Given the description of an element on the screen output the (x, y) to click on. 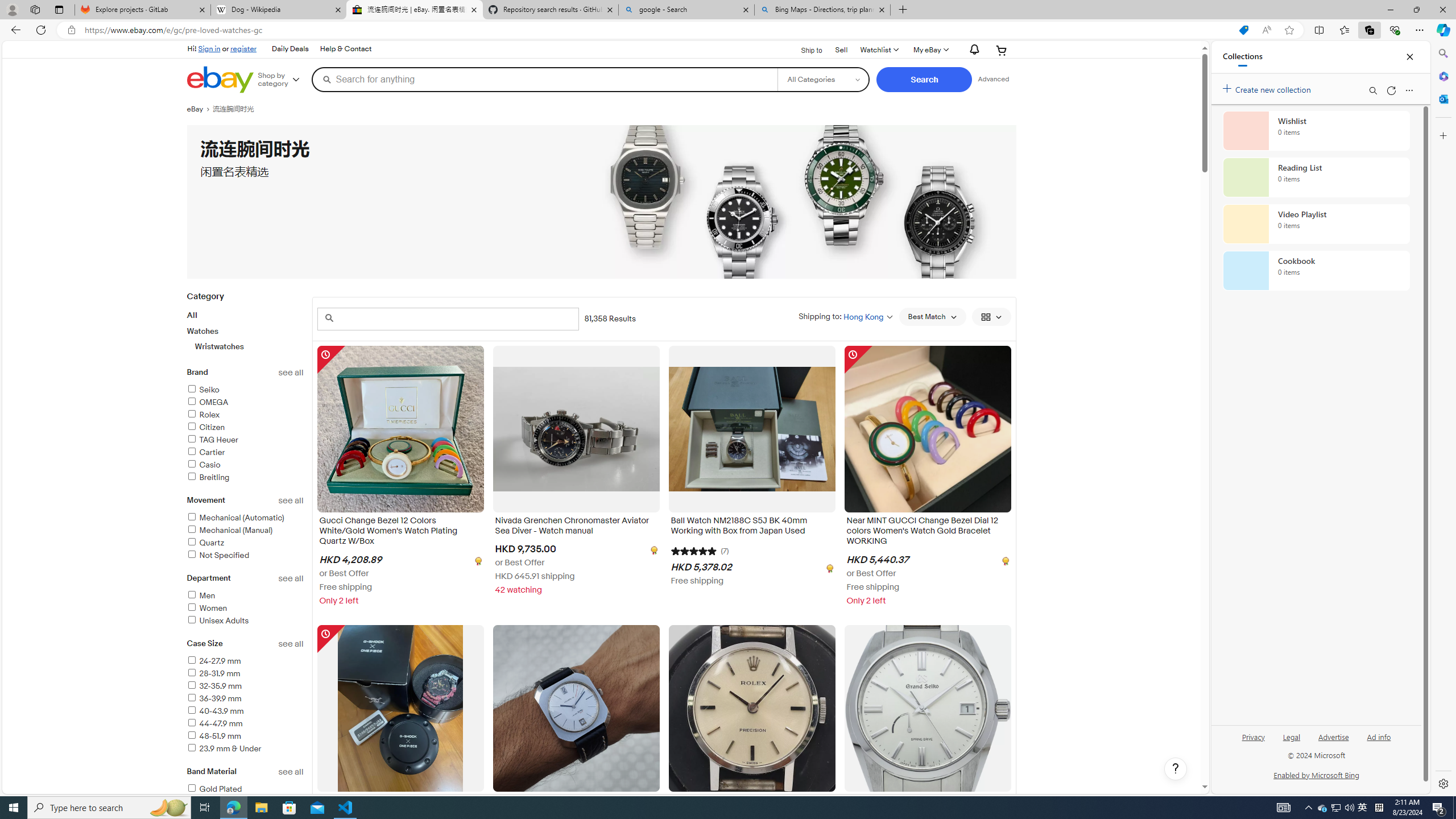
See all case size refinements (291, 643)
AllWatchesWristwatches (245, 330)
Mechanical (Manual) (229, 529)
Mechanical (Automatic) (234, 517)
View: Gallery View (991, 316)
Help, opens dialogs (1175, 768)
Quartz (245, 543)
Wishlist collection, 0 items (1316, 130)
